Given the description of an element on the screen output the (x, y) to click on. 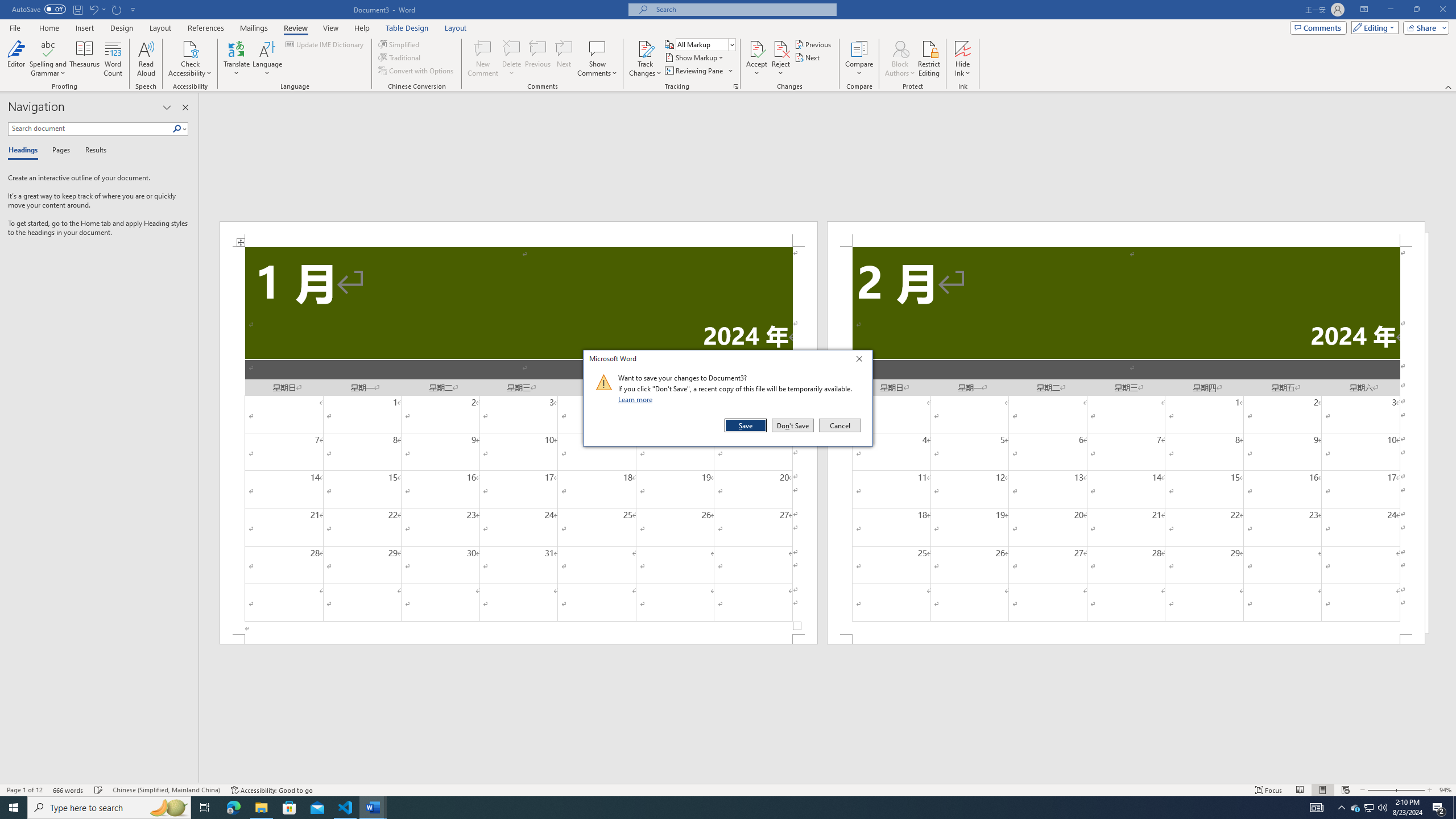
Undo Increase Indent (96, 9)
Show Comments (597, 58)
Footer -Section 1- (518, 638)
Search document (89, 128)
Cancel (839, 425)
Reject (780, 58)
Action Center, 2 new notifications (1439, 807)
Thesaurus... (84, 58)
New Comment (482, 58)
